Given the description of an element on the screen output the (x, y) to click on. 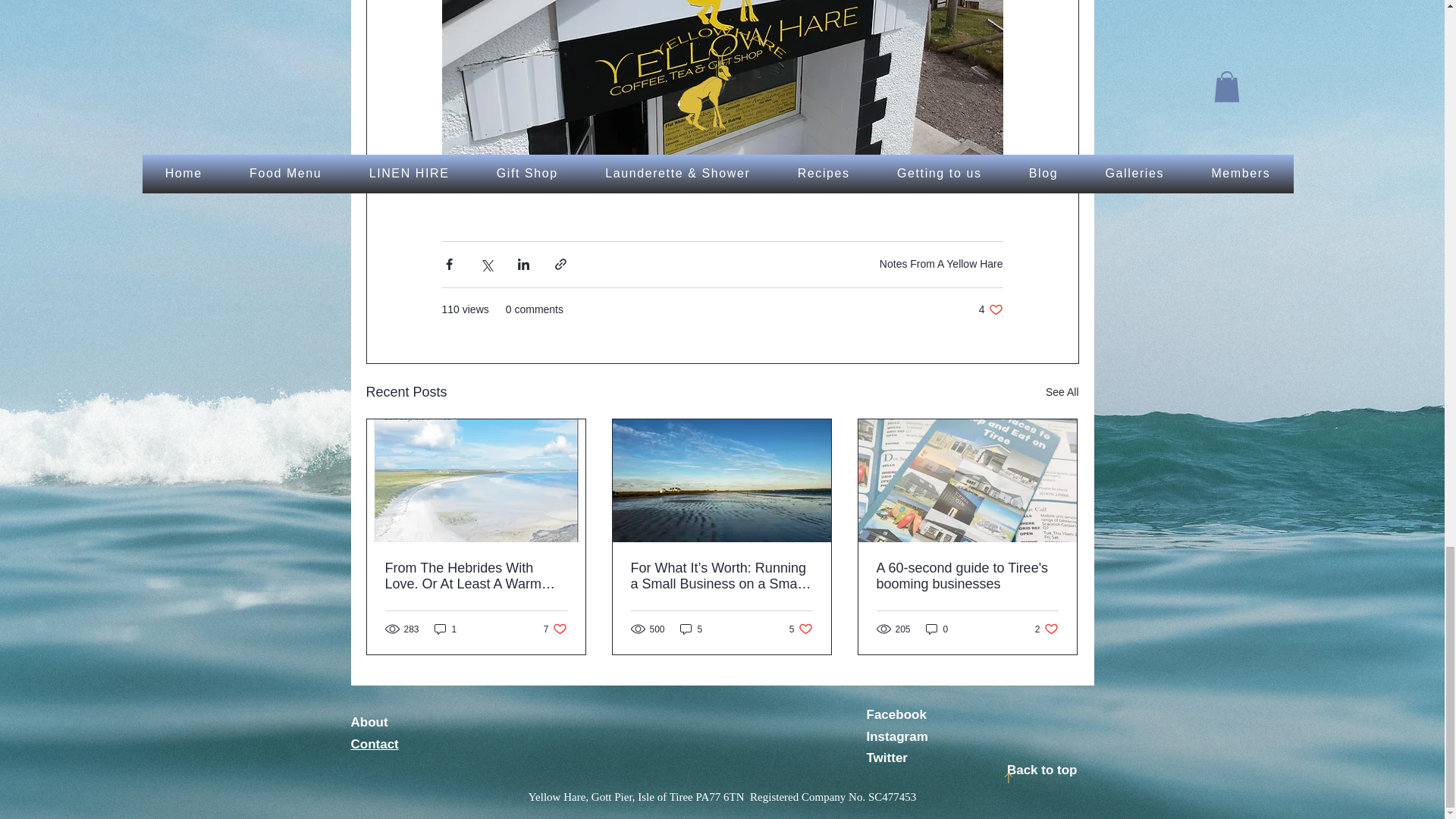
See All (1061, 392)
5 (800, 628)
Notes From A Yellow Hare (555, 628)
A 60-second guide to Tiree's booming businesses (1046, 628)
0 (990, 309)
From The Hebrides With Love. Or At Least A Warm Welcome. (691, 628)
